Given the description of an element on the screen output the (x, y) to click on. 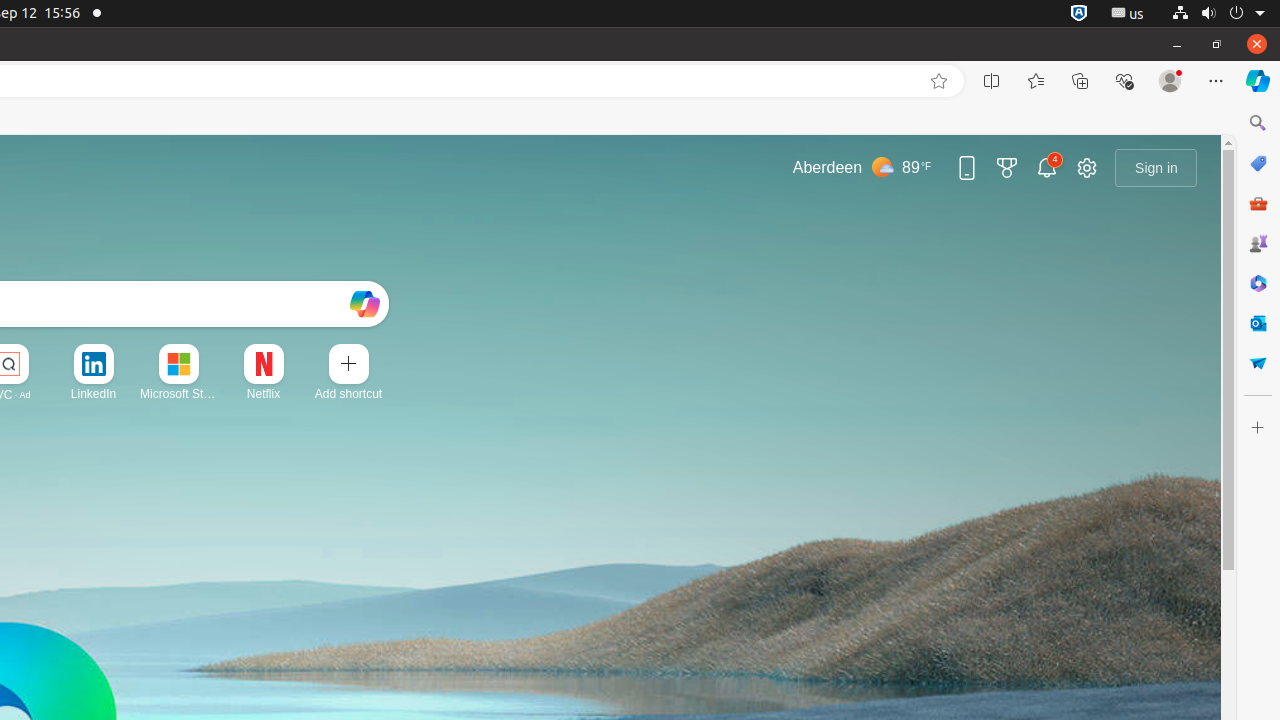
Profile 1 Profile, Please sign in Element type: push-button (1170, 81)
Browser essentials Element type: push-button (1124, 81)
Outlook Element type: push-button (1258, 323)
Open Copilot Element type: push-button (364, 303)
Microsoft rewards Element type: push-button (1007, 168)
